Given the description of an element on the screen output the (x, y) to click on. 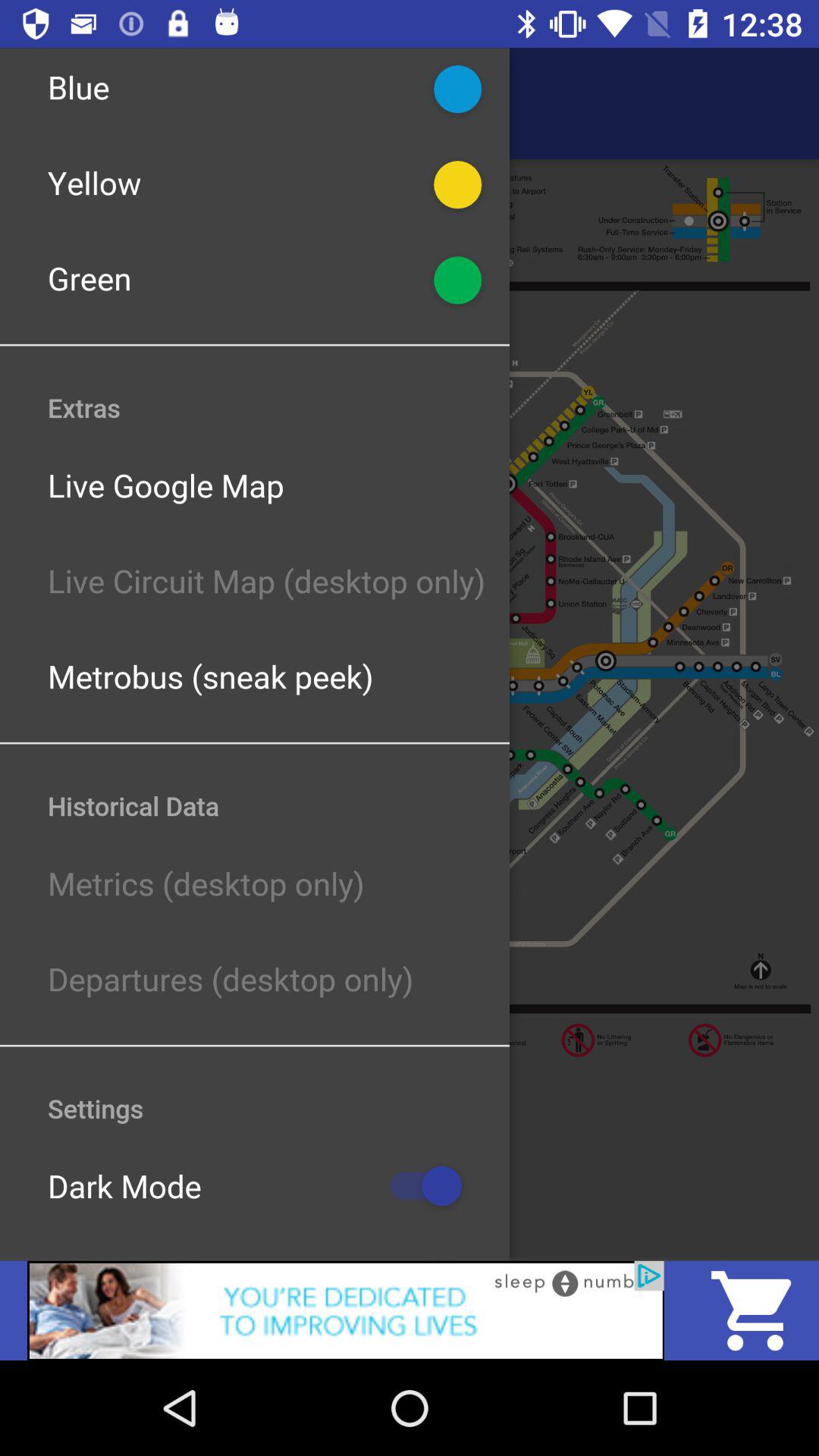
advertisement button (345, 1310)
